Given the description of an element on the screen output the (x, y) to click on. 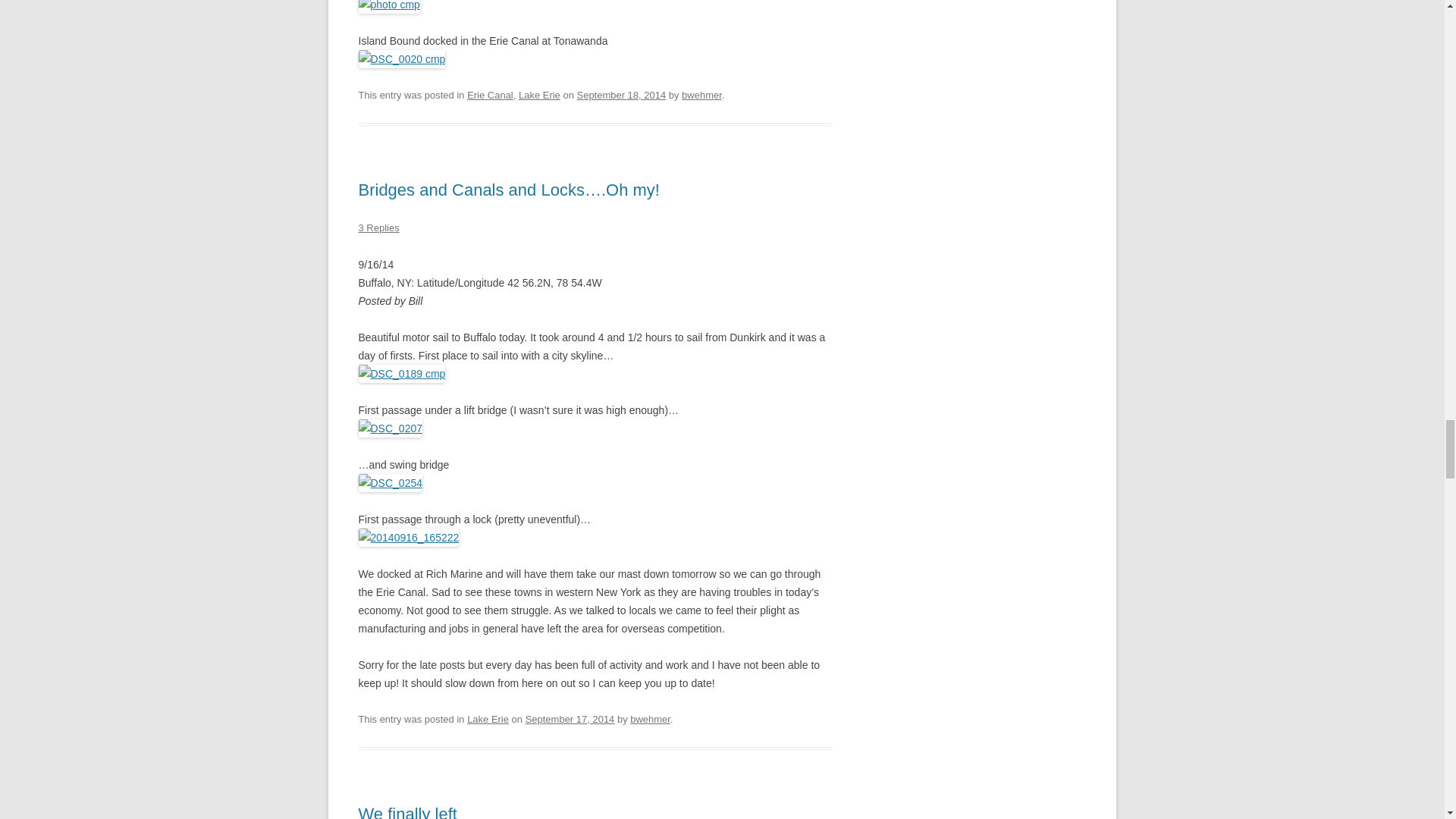
View all posts by bwehmer (649, 718)
2:41 am (620, 94)
View all posts by bwehmer (701, 94)
4:29 am (569, 718)
